Given the description of an element on the screen output the (x, y) to click on. 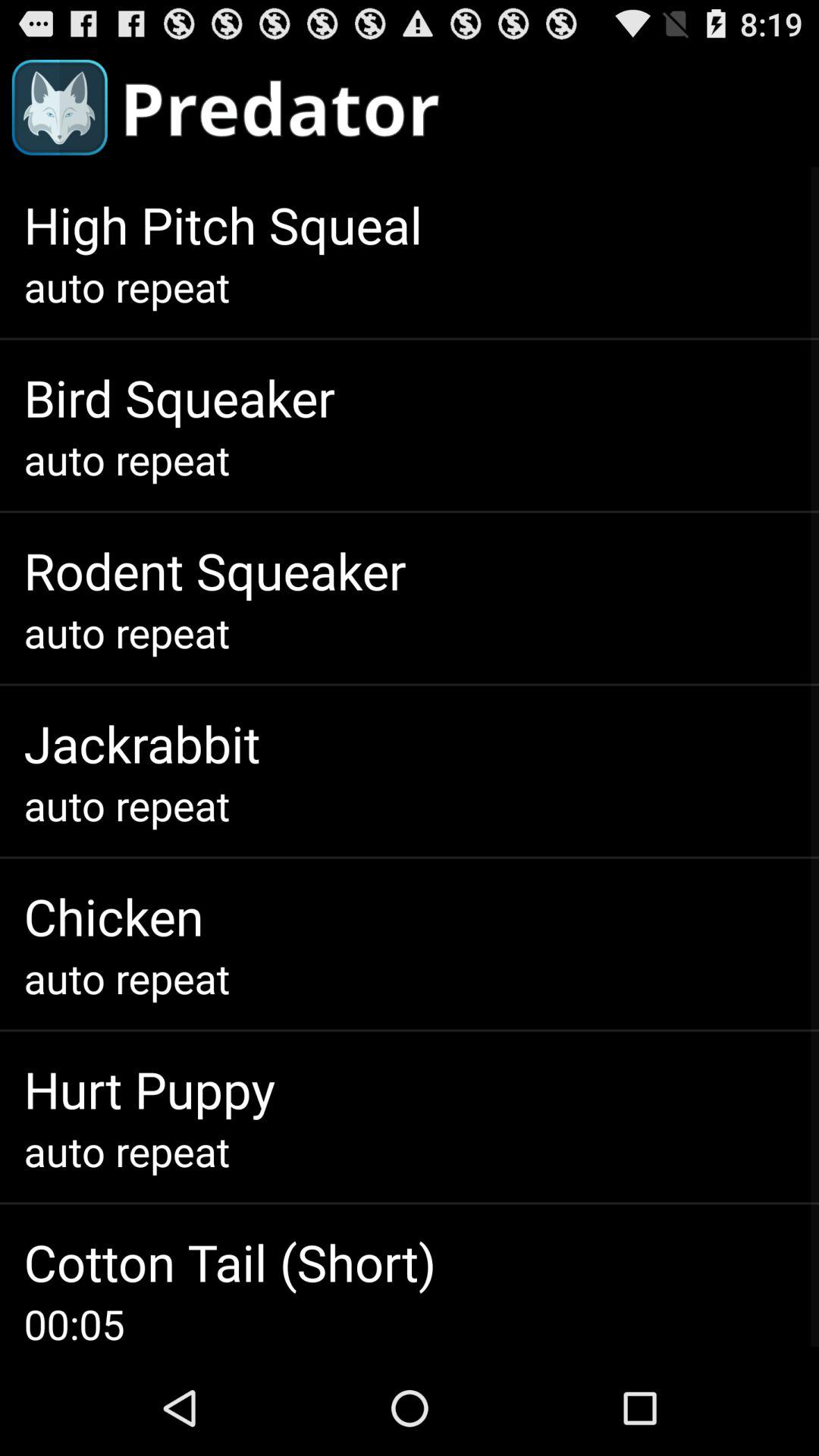
choose icon above auto repeat item (141, 743)
